Given the description of an element on the screen output the (x, y) to click on. 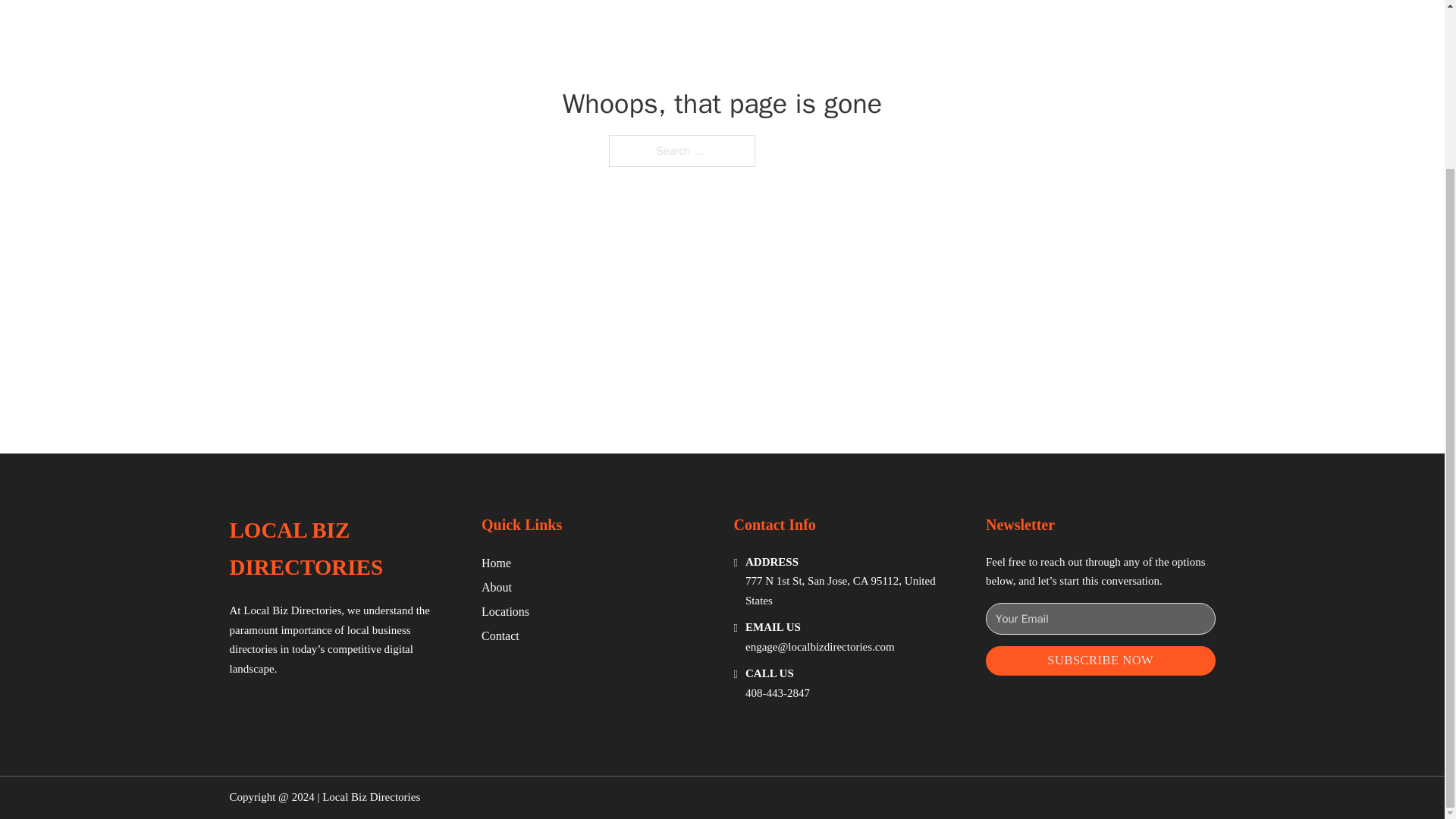
LOCAL BIZ DIRECTORIES (343, 549)
408-443-2847 (777, 693)
About (496, 587)
Home (496, 562)
SUBSCRIBE NOW (1100, 660)
Contact (500, 635)
Locations (505, 611)
